Given the description of an element on the screen output the (x, y) to click on. 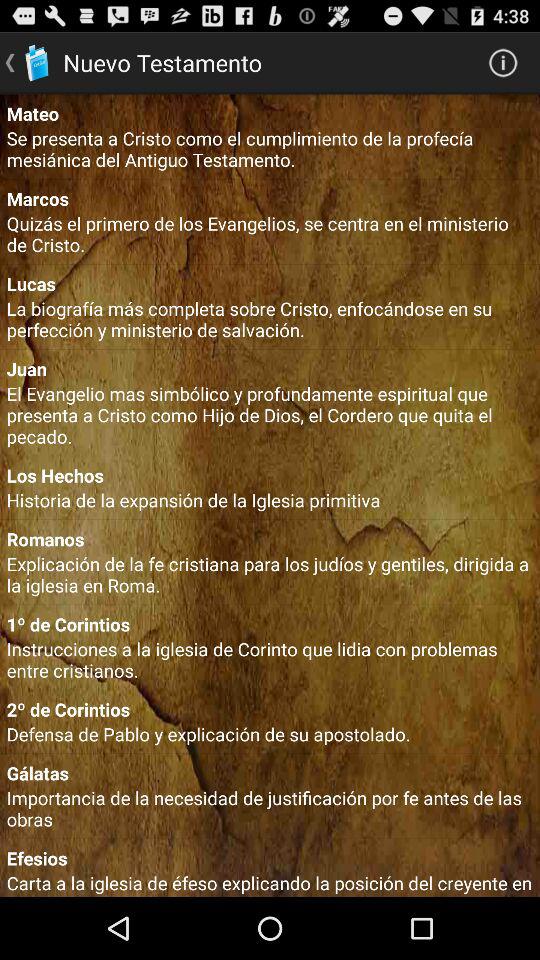
turn on item above the los hechos icon (269, 414)
